Given the description of an element on the screen output the (x, y) to click on. 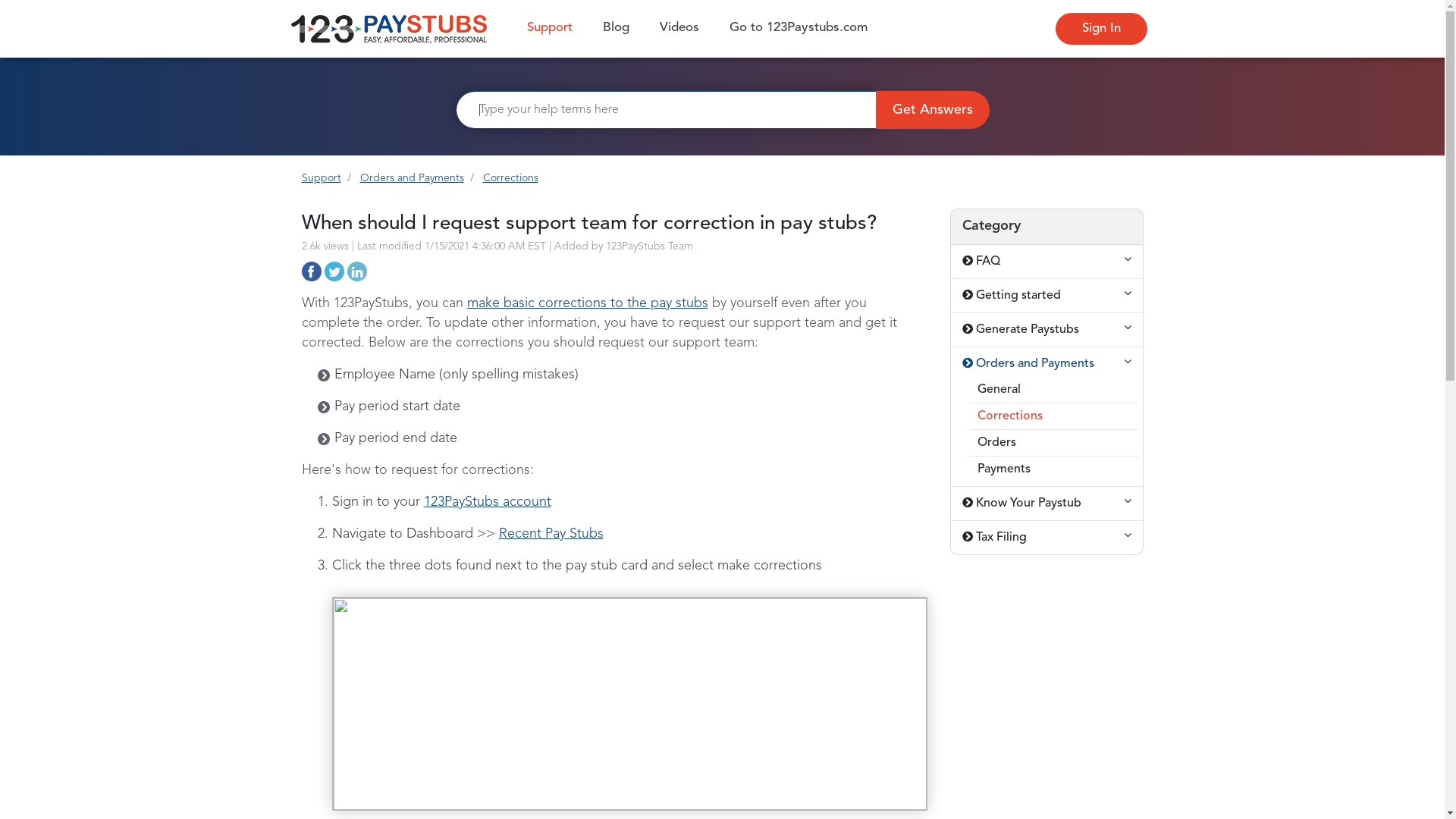
Videos Element type: text (679, 28)
Know Your Paystub Element type: text (1045, 503)
Getting started Element type: text (1045, 295)
FAQ Element type: text (1045, 261)
Generate Paystubs Element type: text (1045, 329)
Corrections Element type: text (1053, 416)
Payments Element type: text (1053, 469)
Recent Pay Stubs Element type: text (550, 533)
Orders Element type: text (1053, 442)
Blog Element type: text (615, 28)
123PayStubs account Element type: text (486, 501)
Support Element type: text (321, 177)
make basic corrections to the pay stubs Element type: text (587, 303)
Corrections Element type: text (509, 177)
Sign In Element type: text (1101, 28)
General Element type: text (1053, 389)
Orders and Payments Element type: text (1045, 363)
Tax Filing Element type: text (1045, 537)
Orders and Payments Element type: text (411, 177)
Get Answers Element type: text (931, 109)
Go to 123Paystubs.com Element type: text (798, 28)
Support
(current) Element type: text (548, 28)
